Given the description of an element on the screen output the (x, y) to click on. 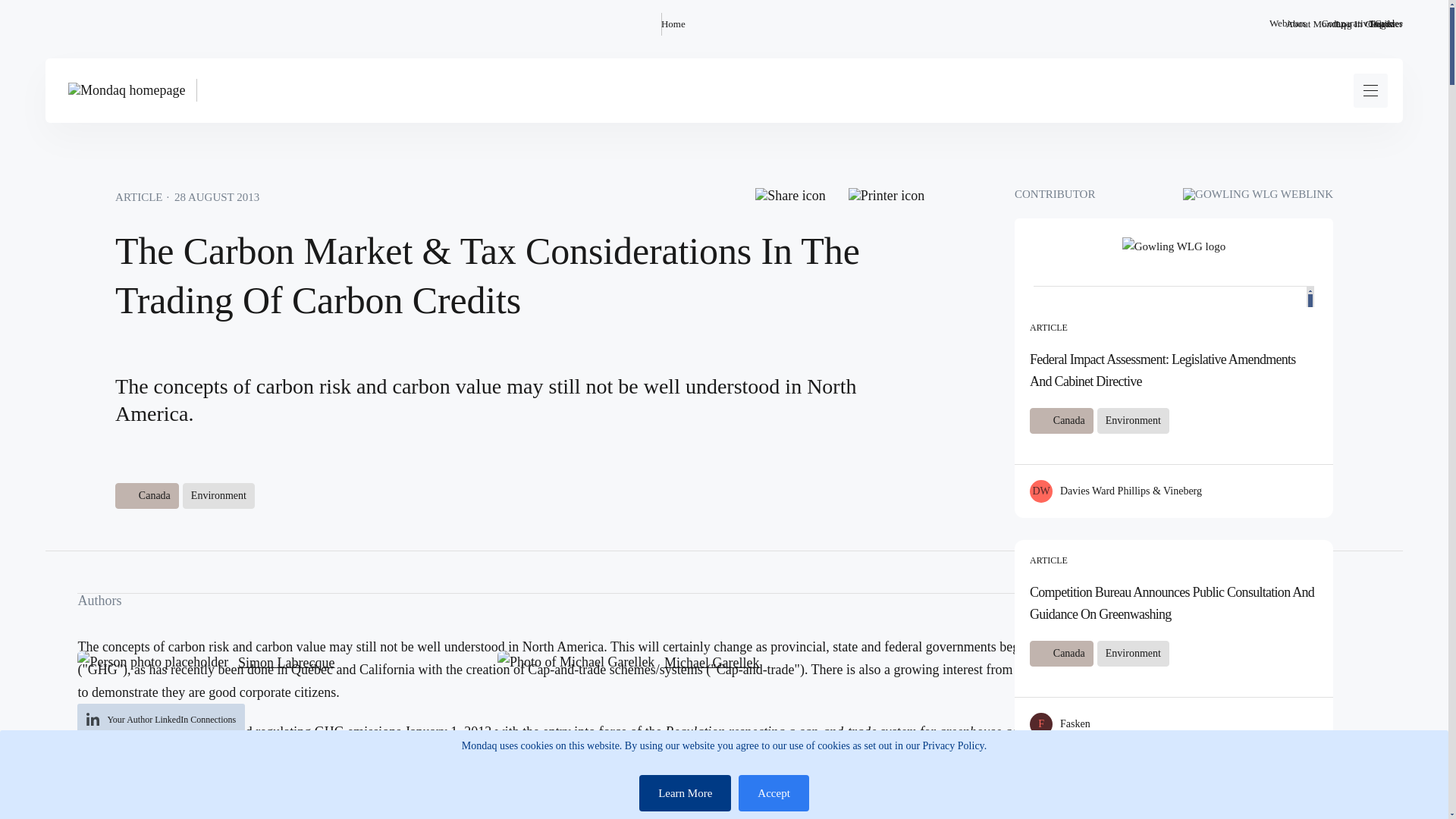
Comparative Guides (1362, 23)
Webinars (1287, 23)
About Mondaq (1315, 24)
Home (673, 24)
